Given the description of an element on the screen output the (x, y) to click on. 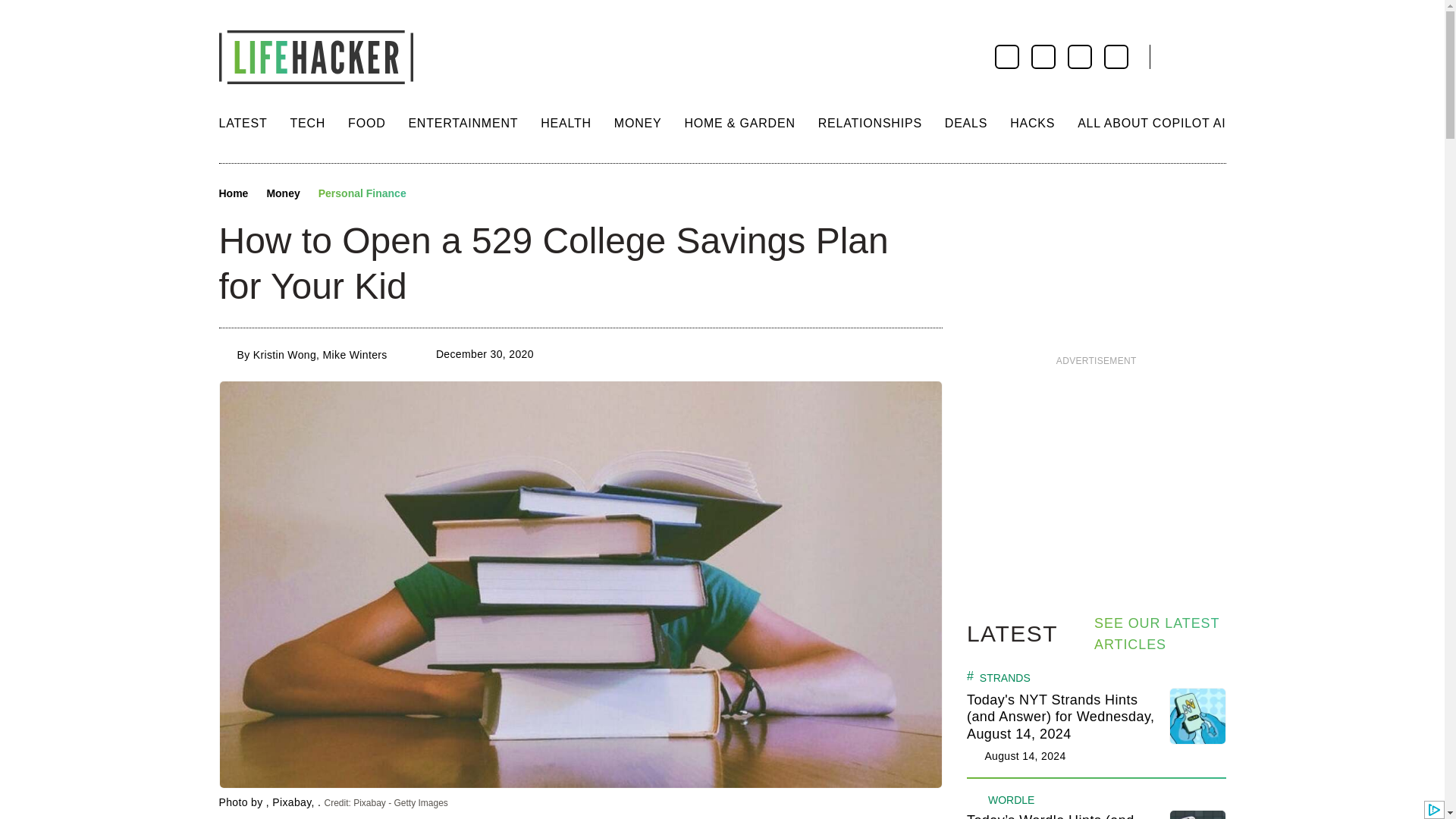
Social Share (432, 193)
Money (282, 193)
TECH (306, 123)
LATEST (242, 123)
Home (232, 193)
MONEY (638, 123)
ENTERTAINMENT (462, 123)
HEALTH (565, 123)
DEALS (965, 123)
Personal Finance (362, 193)
